Given the description of an element on the screen output the (x, y) to click on. 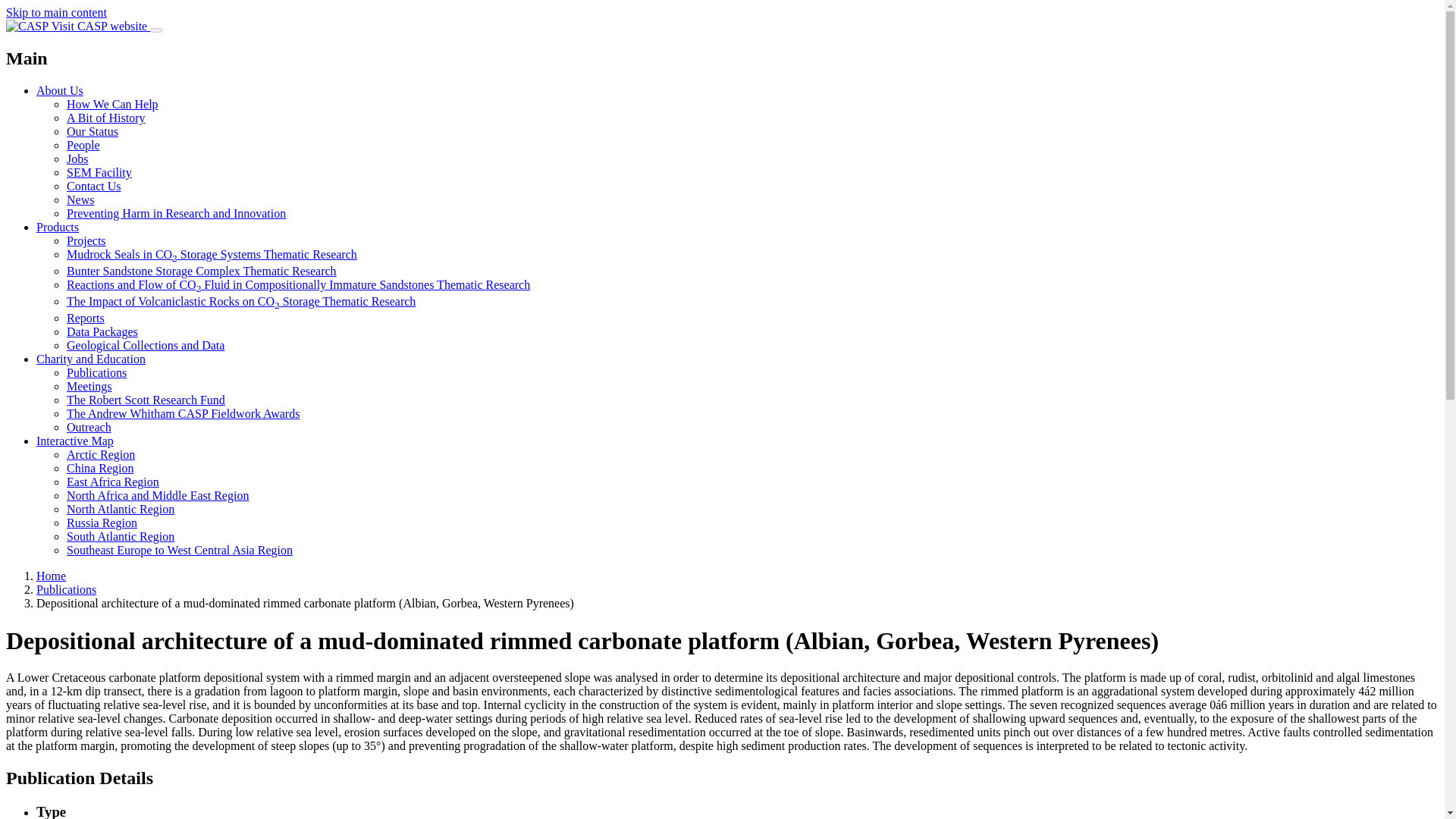
China Region (99, 468)
Geological Collections and Data (145, 345)
East Africa Region (112, 481)
Interactive Map (74, 440)
Outreach (89, 427)
North Africa and Middle East Region (157, 495)
Jobs (76, 158)
SEM Facility (99, 172)
Visit CASP website (77, 25)
South Atlantic Region (120, 535)
North Atlantic Region (120, 508)
Contact Us (93, 185)
Charity and Education (90, 358)
Projects (86, 240)
